Given the description of an element on the screen output the (x, y) to click on. 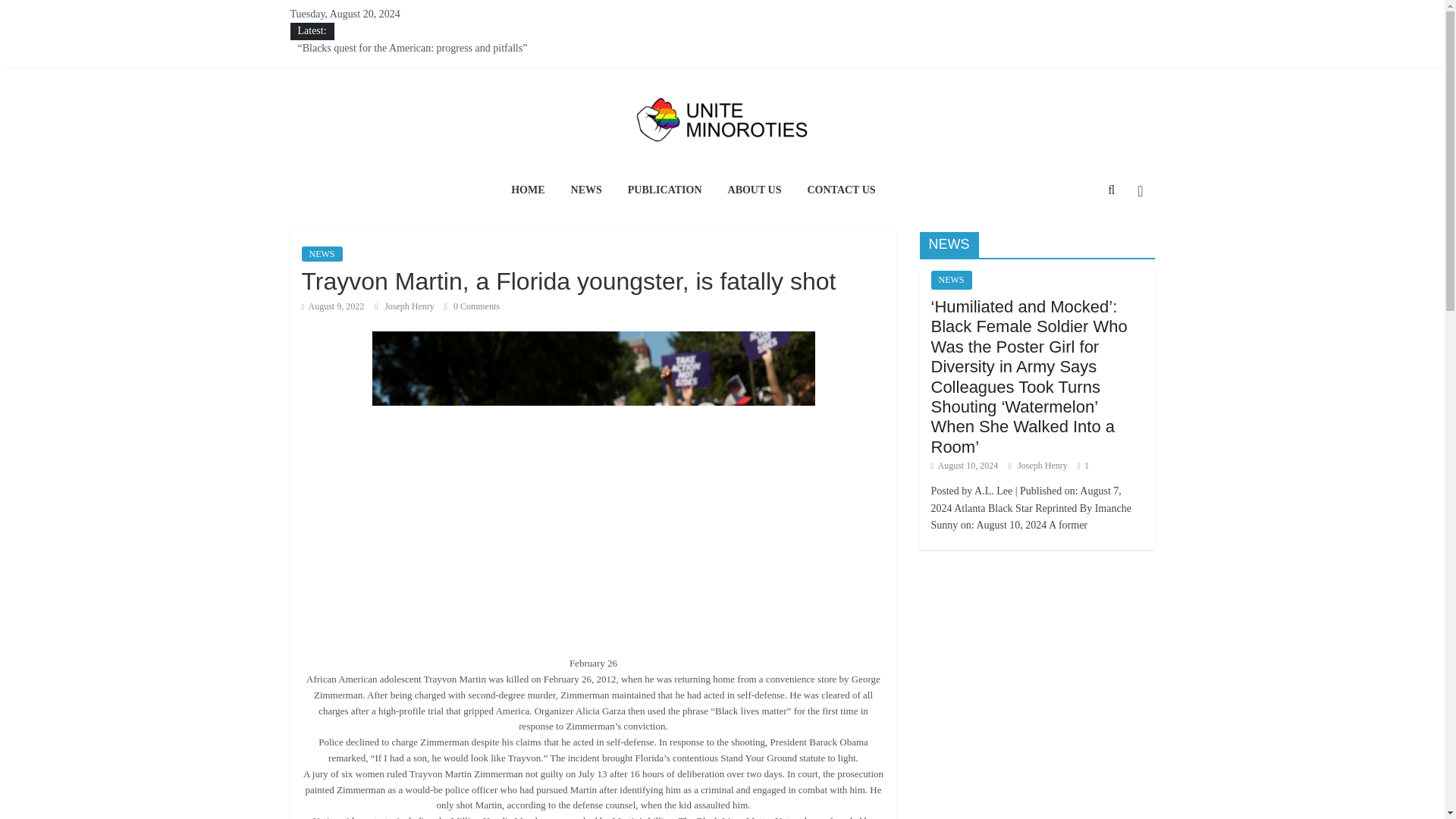
NEWS (321, 253)
Joseph Henry (410, 306)
0 Comments (471, 306)
August 9, 2022 (333, 306)
ABOUT US (754, 190)
NEWS (585, 190)
NEWS (951, 280)
3:12 am (333, 306)
HOME (527, 190)
PUBLICATION (664, 190)
